Given the description of an element on the screen output the (x, y) to click on. 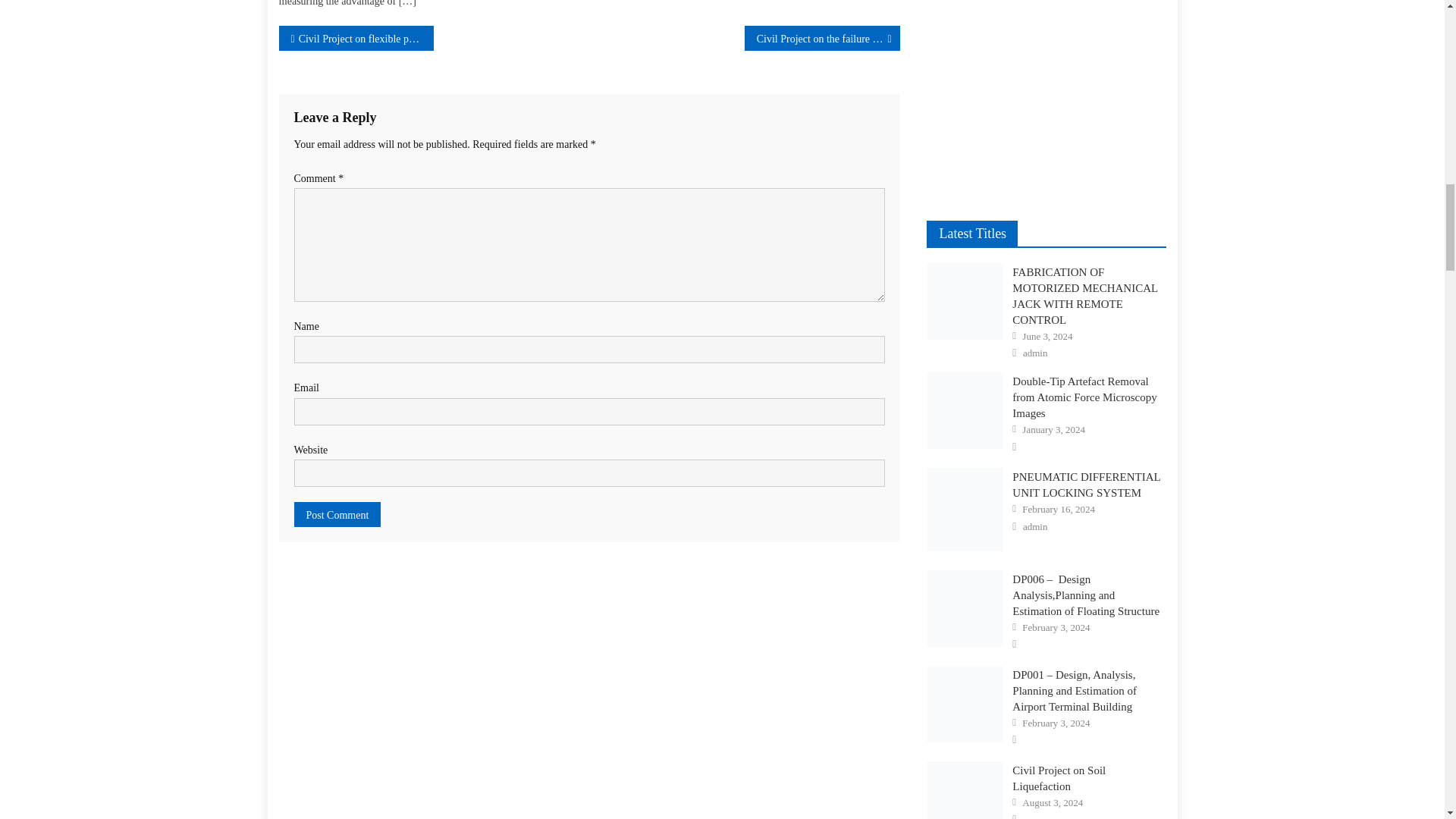
PNEUMATIC  DIFFERENTIAL UNIT LOCKING SYSTEM (964, 509)
Advertisement (1046, 93)
Post Comment (337, 514)
